Given the description of an element on the screen output the (x, y) to click on. 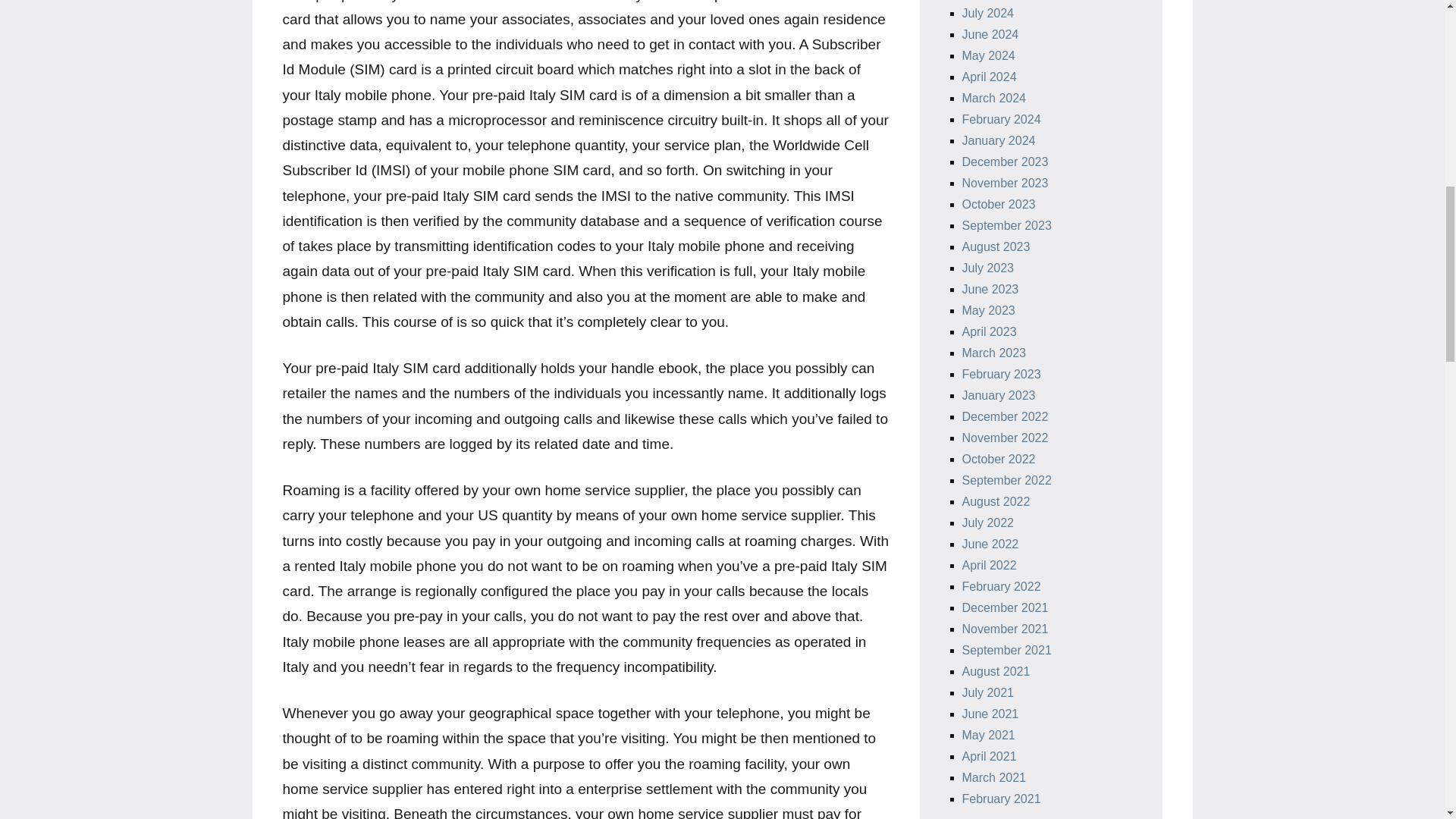
January 2024 (997, 140)
August 2023 (994, 246)
April 2024 (988, 76)
May 2023 (987, 309)
December 2023 (1004, 161)
July 2024 (986, 12)
March 2024 (993, 97)
February 2024 (1000, 119)
July 2023 (986, 267)
June 2023 (988, 288)
March 2023 (993, 352)
June 2024 (988, 33)
May 2024 (987, 55)
September 2023 (1005, 225)
April 2023 (988, 331)
